Given the description of an element on the screen output the (x, y) to click on. 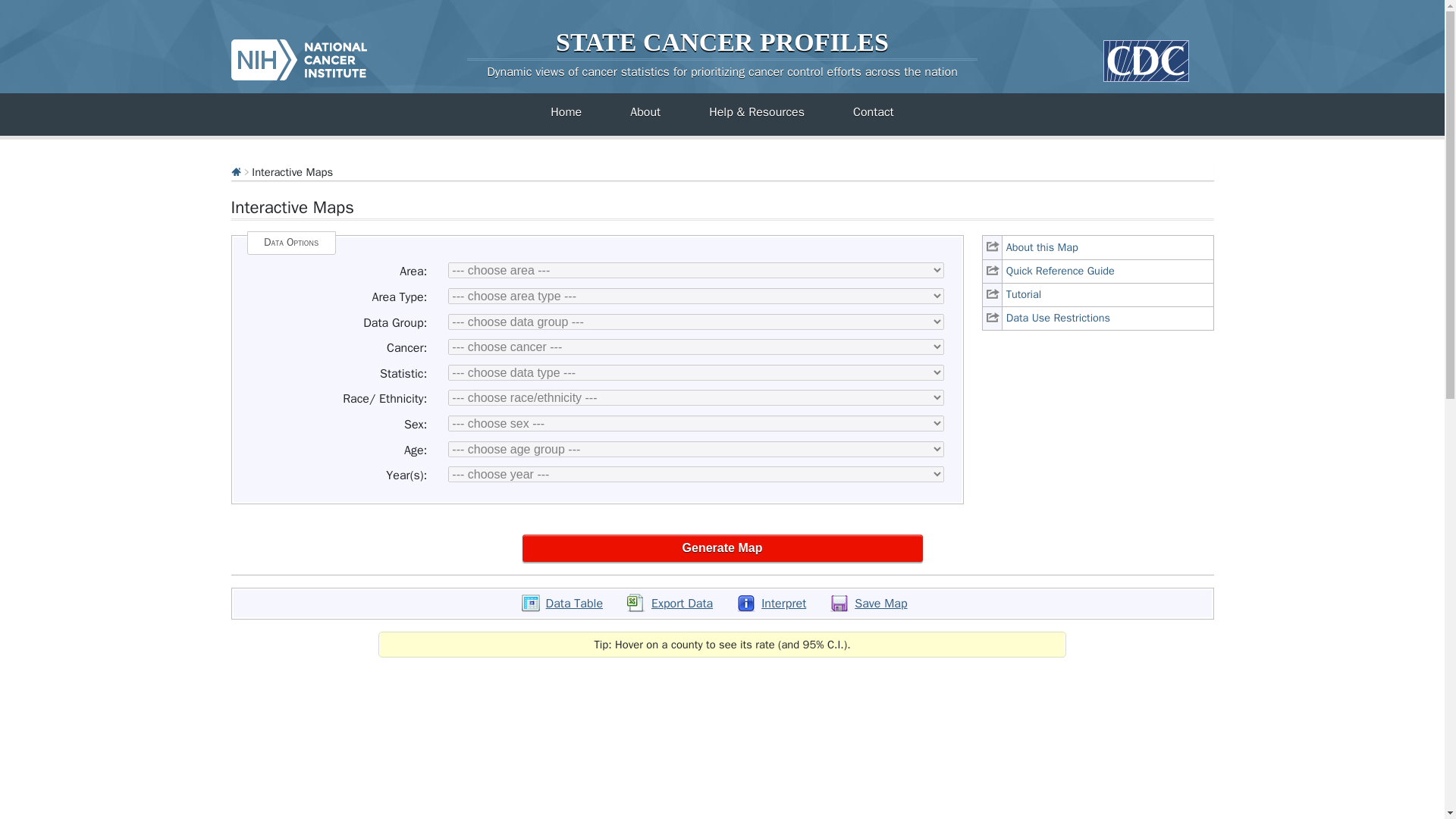
Visit the National Cancer Institute (298, 53)
Return Home (722, 41)
This link opens in a new window. (1097, 294)
Interpret (771, 603)
This link opens in a new window. (1097, 318)
Export Data (670, 603)
Save Map (868, 603)
Return Home (722, 71)
Quick Reference Guide (1097, 271)
This link opens in a new window. (1097, 271)
About this Map (1097, 246)
STATE CANCER PROFILES (722, 41)
About (645, 112)
Contact (873, 112)
